Given the description of an element on the screen output the (x, y) to click on. 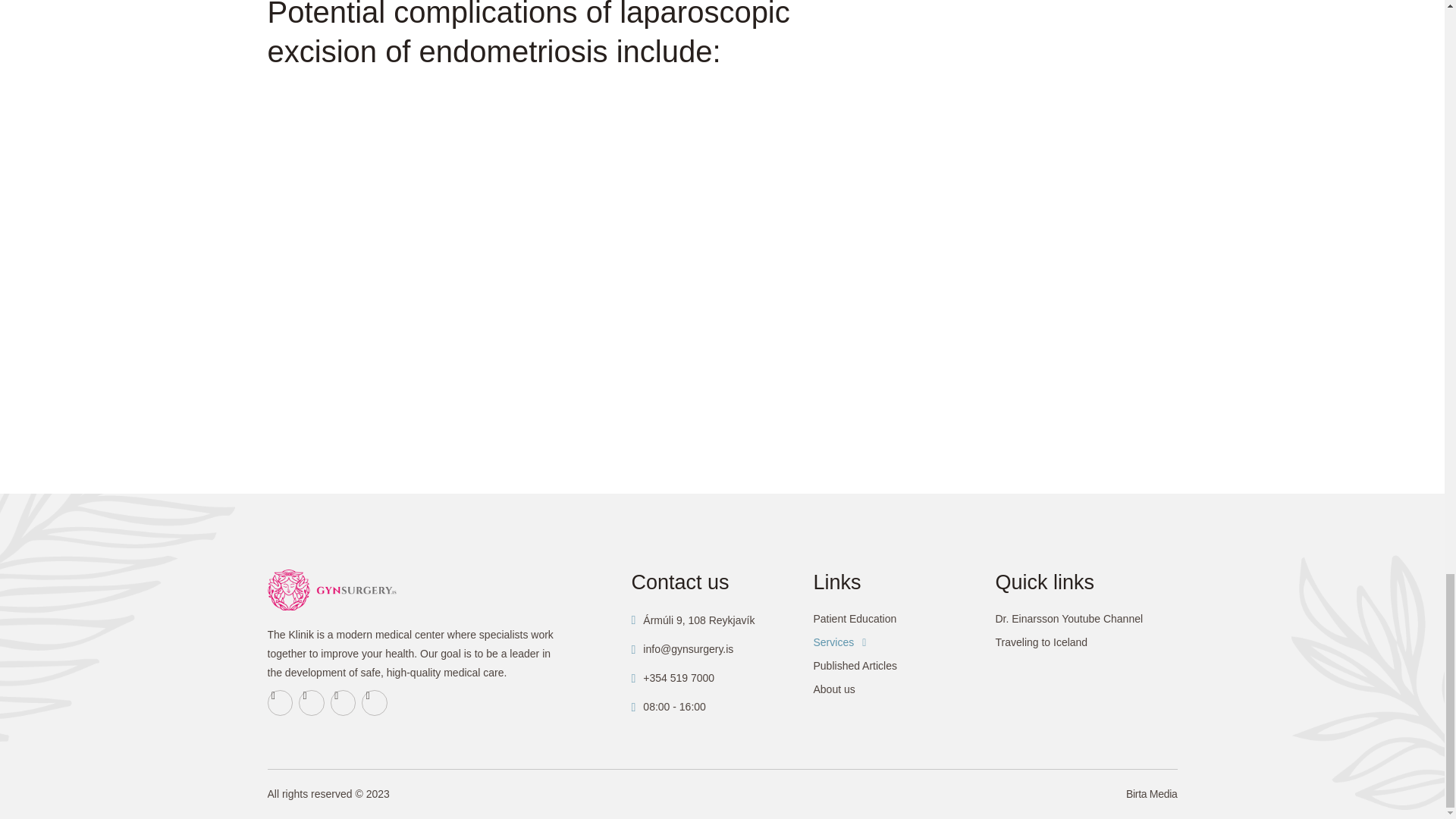
08:00 - 16:00 (667, 706)
Patient Education (903, 618)
Services (903, 642)
